Given the description of an element on the screen output the (x, y) to click on. 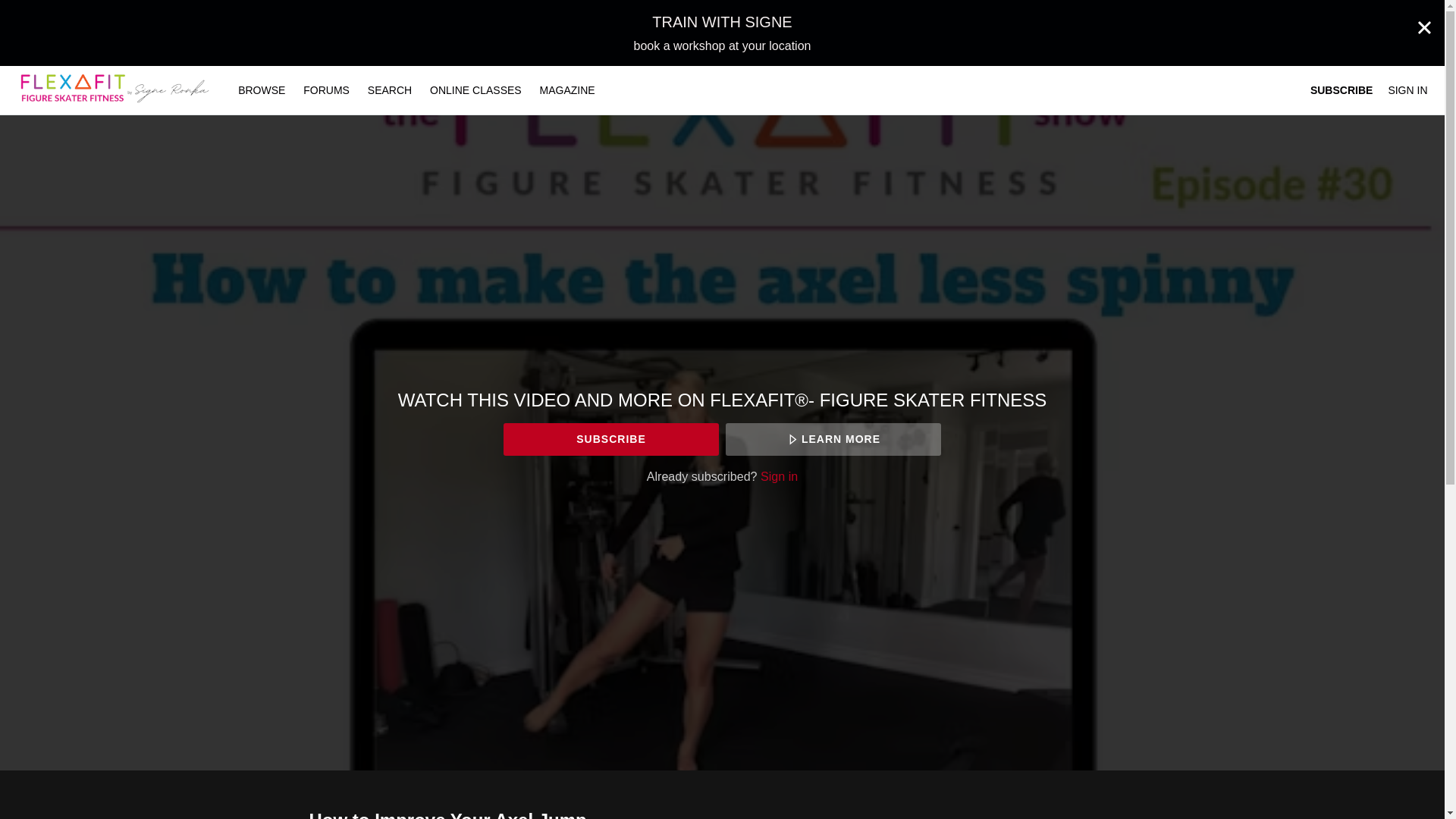
BROWSE (262, 90)
SEARCH (390, 90)
Sign in (778, 476)
Skip to main content (48, 7)
SUBSCRIBE (1341, 90)
MAGAZINE (567, 90)
LEARN MORE (832, 439)
FORUMS (327, 90)
ONLINE CLASSES (475, 90)
SUBSCRIBE (610, 439)
SIGN IN (1406, 90)
